Given the description of an element on the screen output the (x, y) to click on. 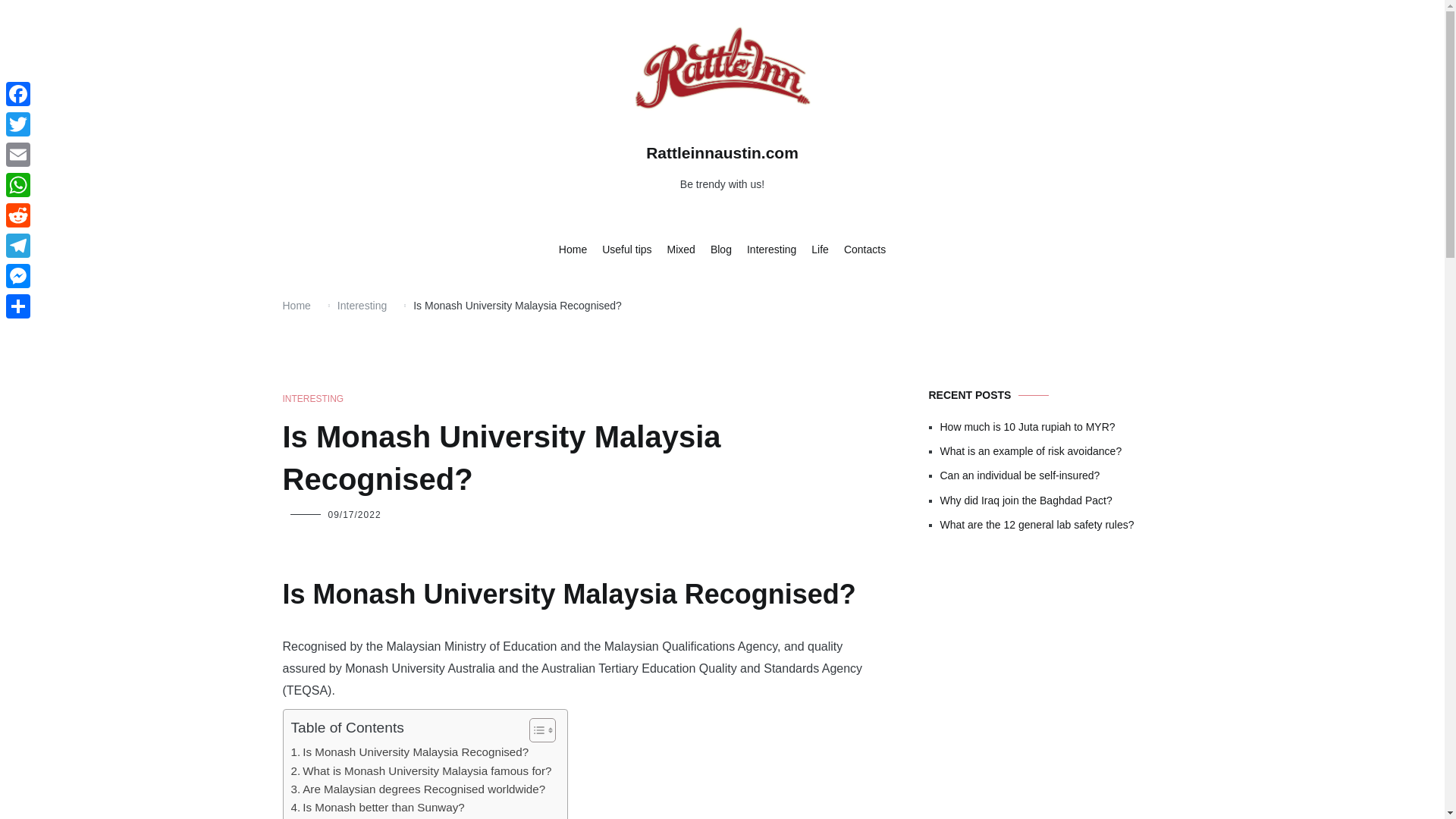
Are Malaysian degrees Recognised worldwide? (418, 789)
What is Monash University Malaysia famous for? (421, 771)
How much is 10 Juta rupiah to MYR? (1050, 426)
Home (572, 249)
Contacts (864, 249)
INTERESTING (312, 399)
Email (17, 154)
WhatsApp (17, 184)
Interesting (362, 305)
Telegram (17, 245)
Blog (721, 249)
Interesting (771, 249)
Is Monash better than Sunway? (377, 807)
Life (819, 249)
Mixed (680, 249)
